Given the description of an element on the screen output the (x, y) to click on. 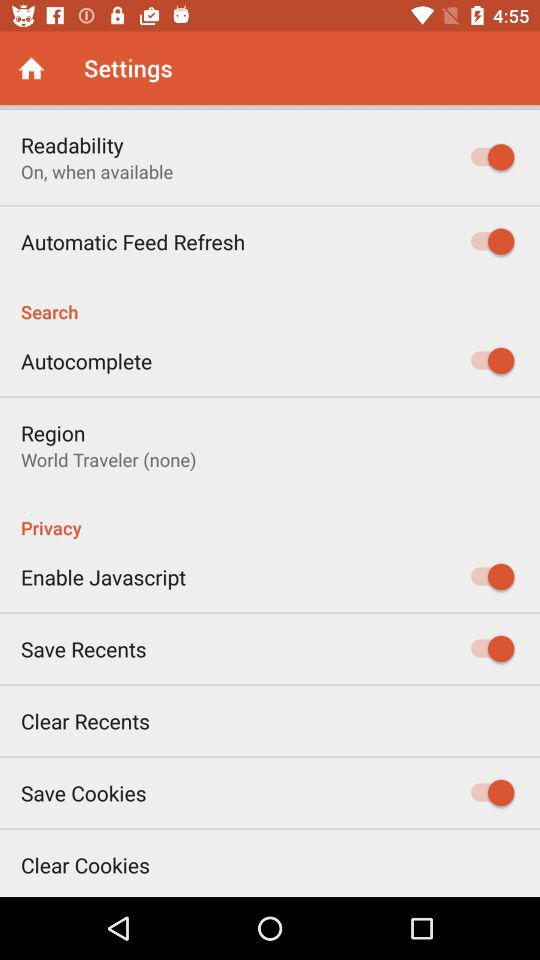
jump to the region item (53, 432)
